Given the description of an element on the screen output the (x, y) to click on. 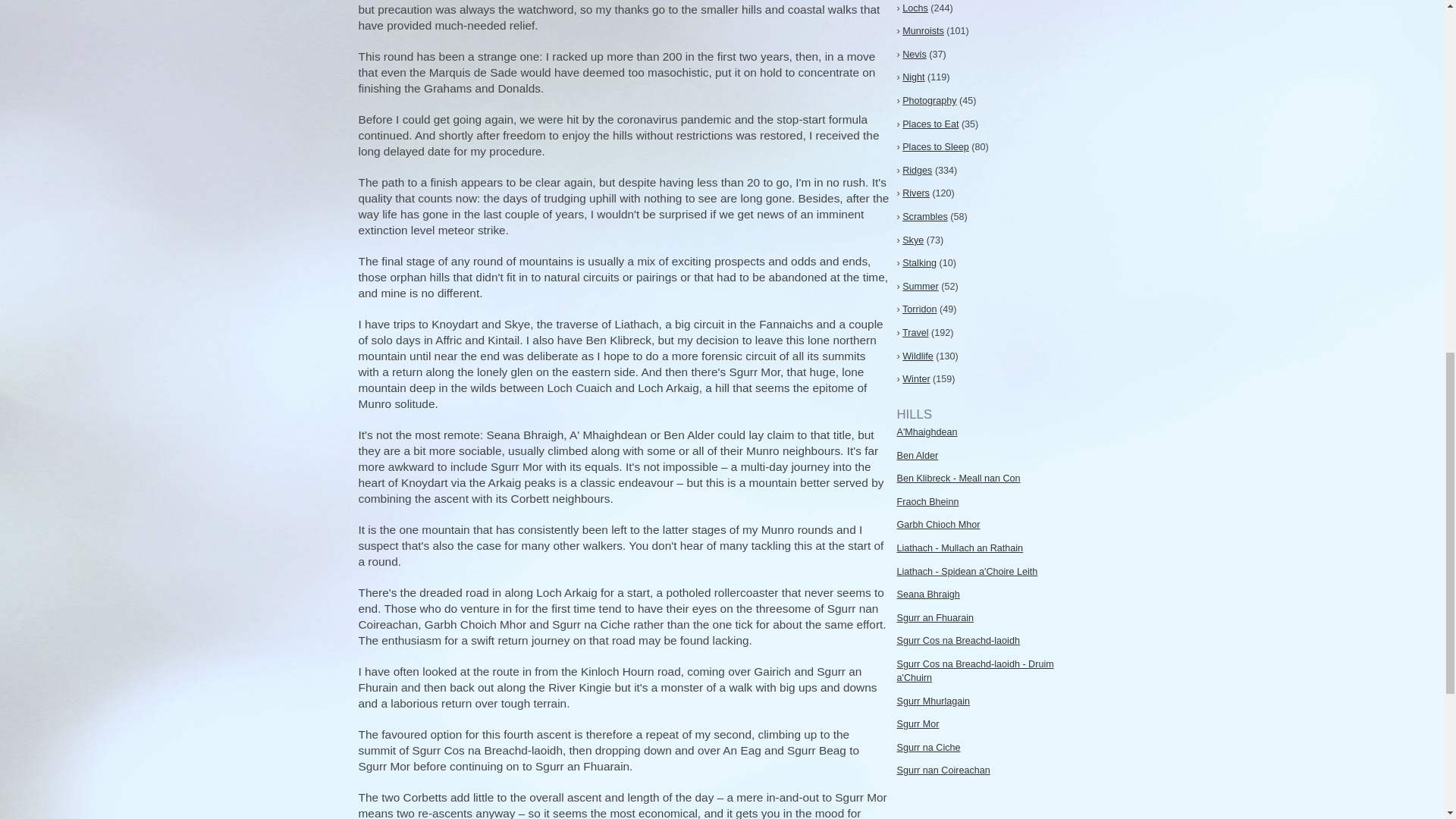
Lochs (915, 8)
